Given the description of an element on the screen output the (x, y) to click on. 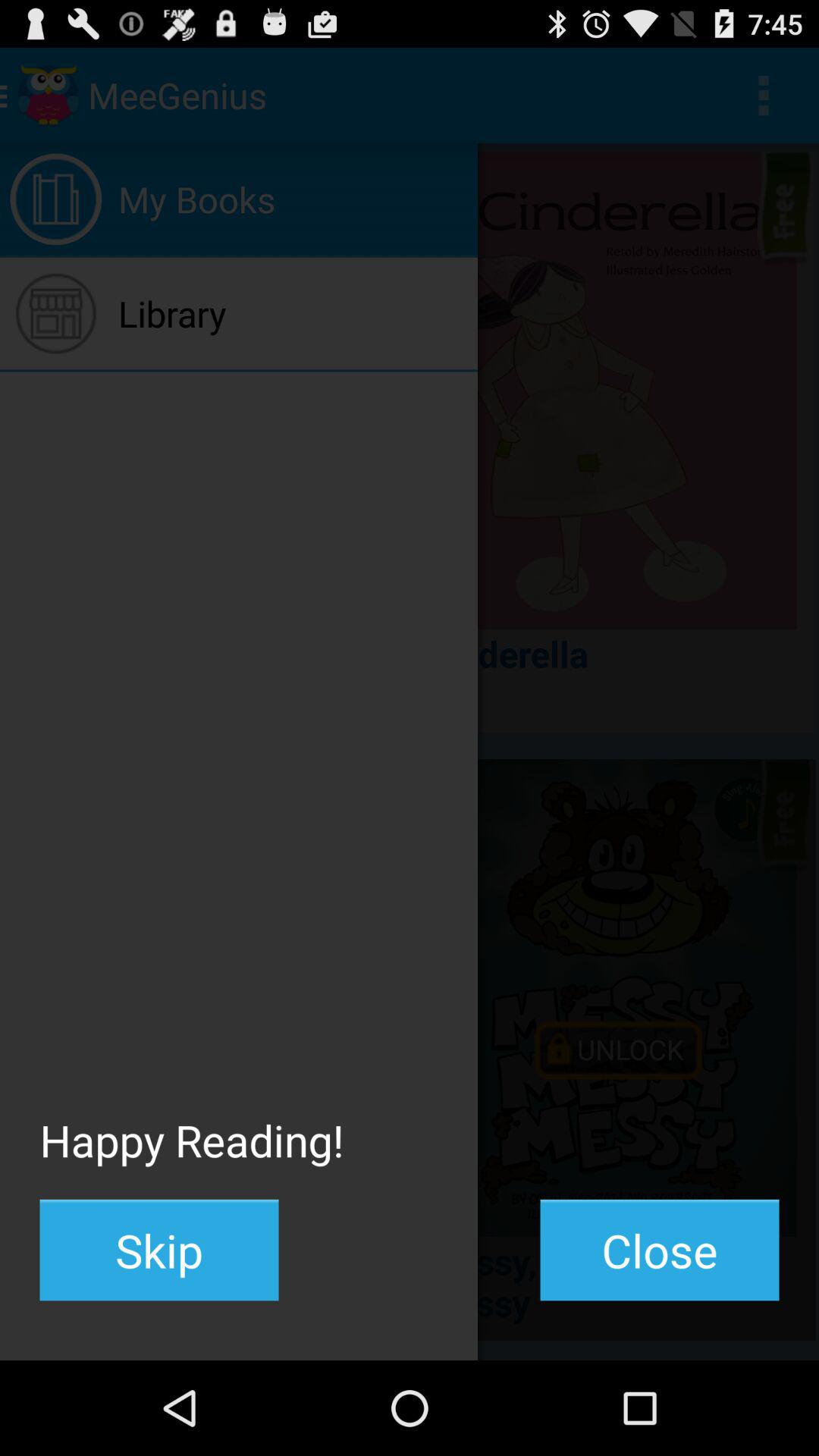
tap item at the bottom right corner (659, 1249)
